Given the description of an element on the screen output the (x, y) to click on. 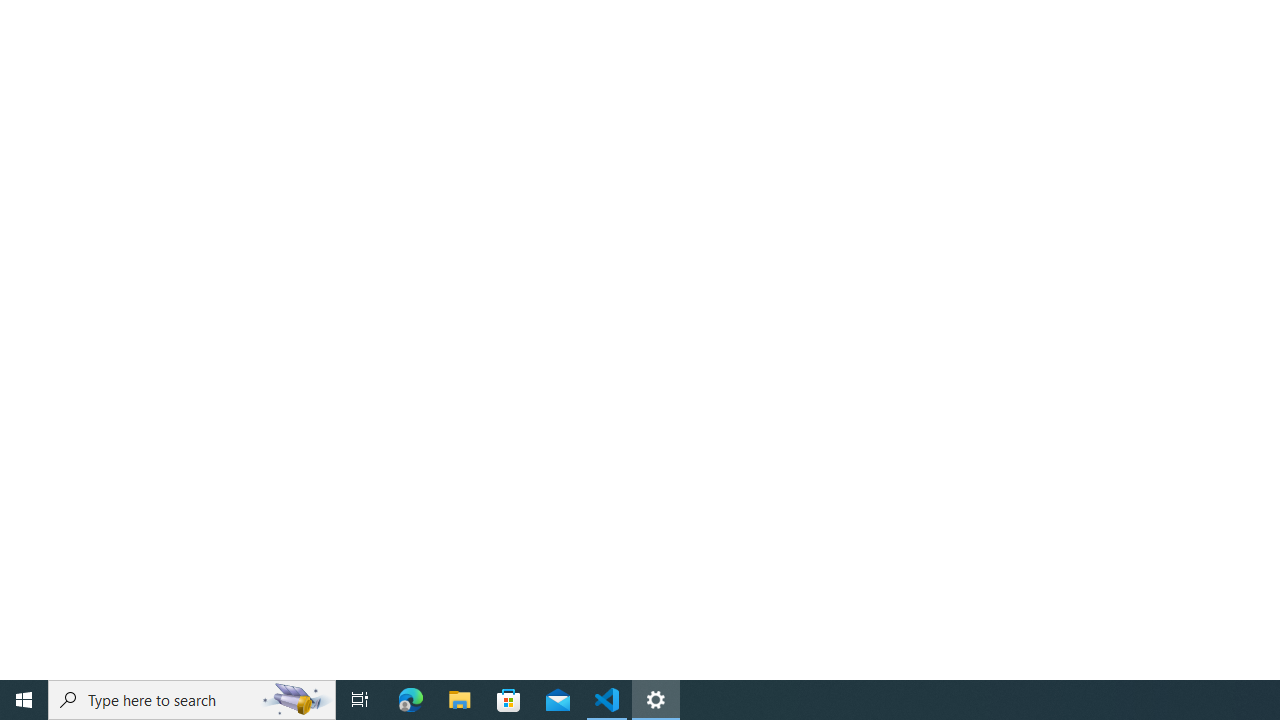
Settings - 1 running window (656, 699)
Task View (359, 699)
Start (24, 699)
Microsoft Store (509, 699)
File Explorer (460, 699)
Search highlights icon opens search home window (295, 699)
Microsoft Edge (411, 699)
Type here to search (191, 699)
Visual Studio Code - 1 running window (607, 699)
